Given the description of an element on the screen output the (x, y) to click on. 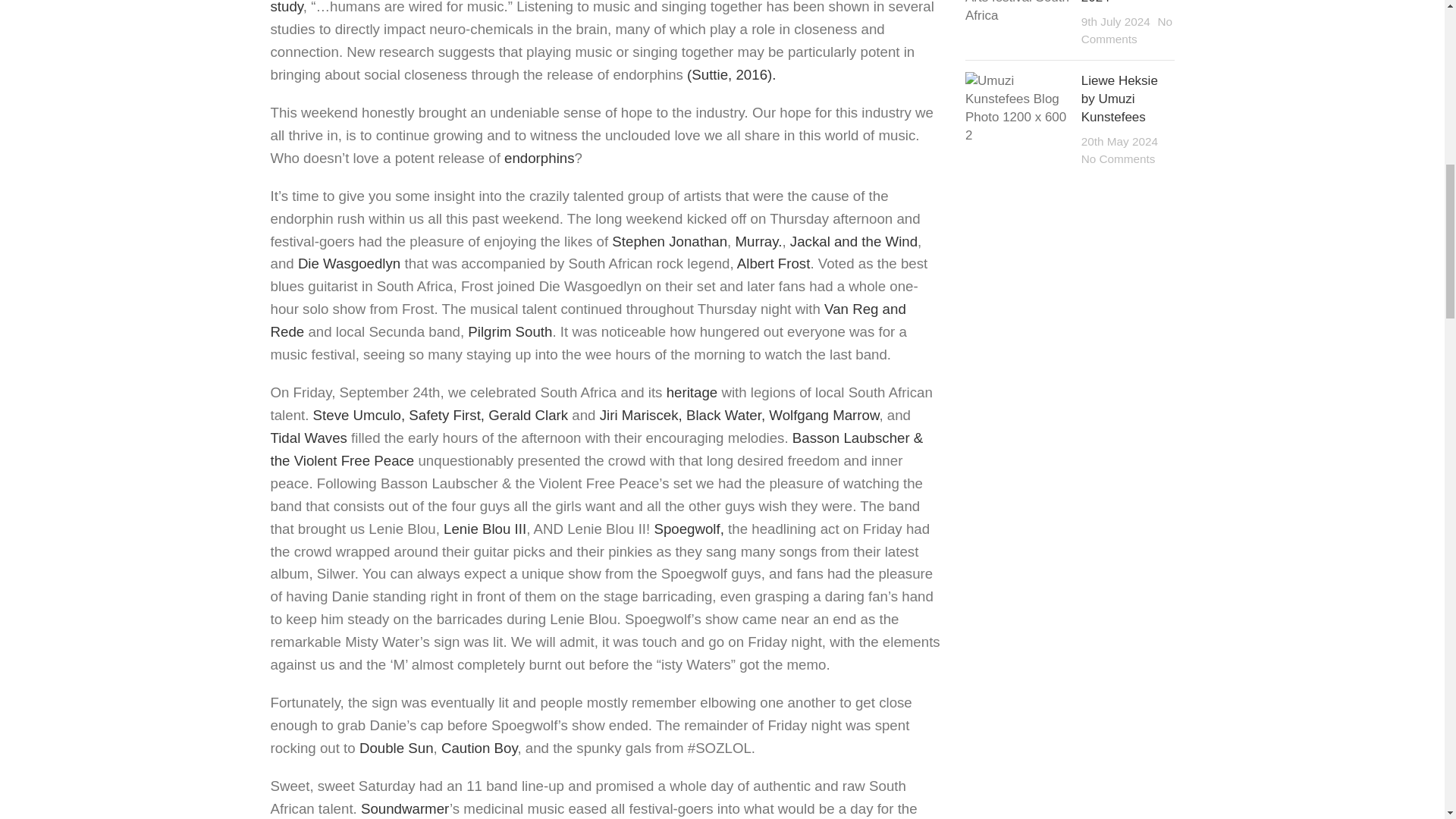
Website Umuzi Kunstefees 6 (1017, 12)
Permalink to Liewe Heksie by Umuzi Kunstefees (1119, 98)
Permalink to Umuzi Kunstefees 2024 (1113, 2)
Umuzi Kunstefees Blog Photo 1200 x 600 2 (1017, 108)
